Given the description of an element on the screen output the (x, y) to click on. 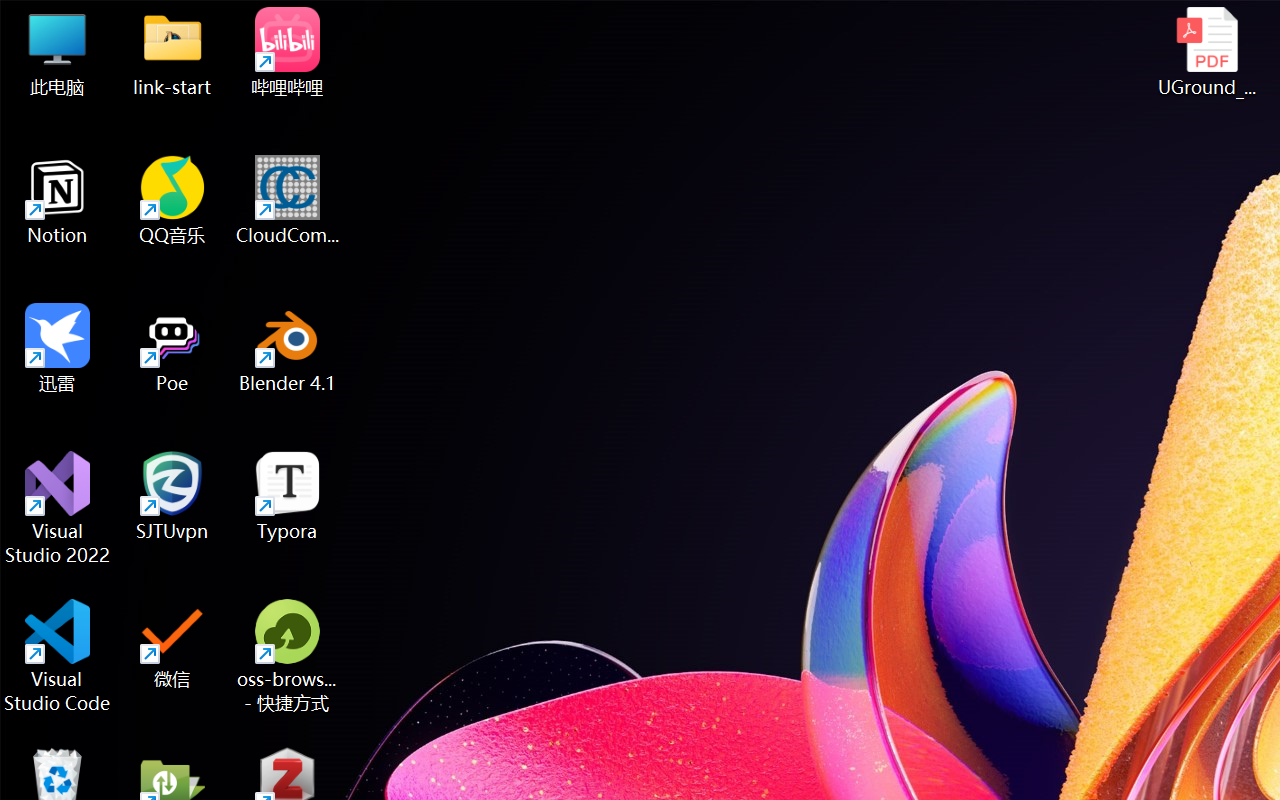
Visual Studio 2022 (57, 508)
SJTUvpn (172, 496)
Visual Studio Code (57, 656)
Blender 4.1 (287, 348)
UGround_paper.pdf (1206, 52)
CloudCompare (287, 200)
Typora (287, 496)
